Given the description of an element on the screen output the (x, y) to click on. 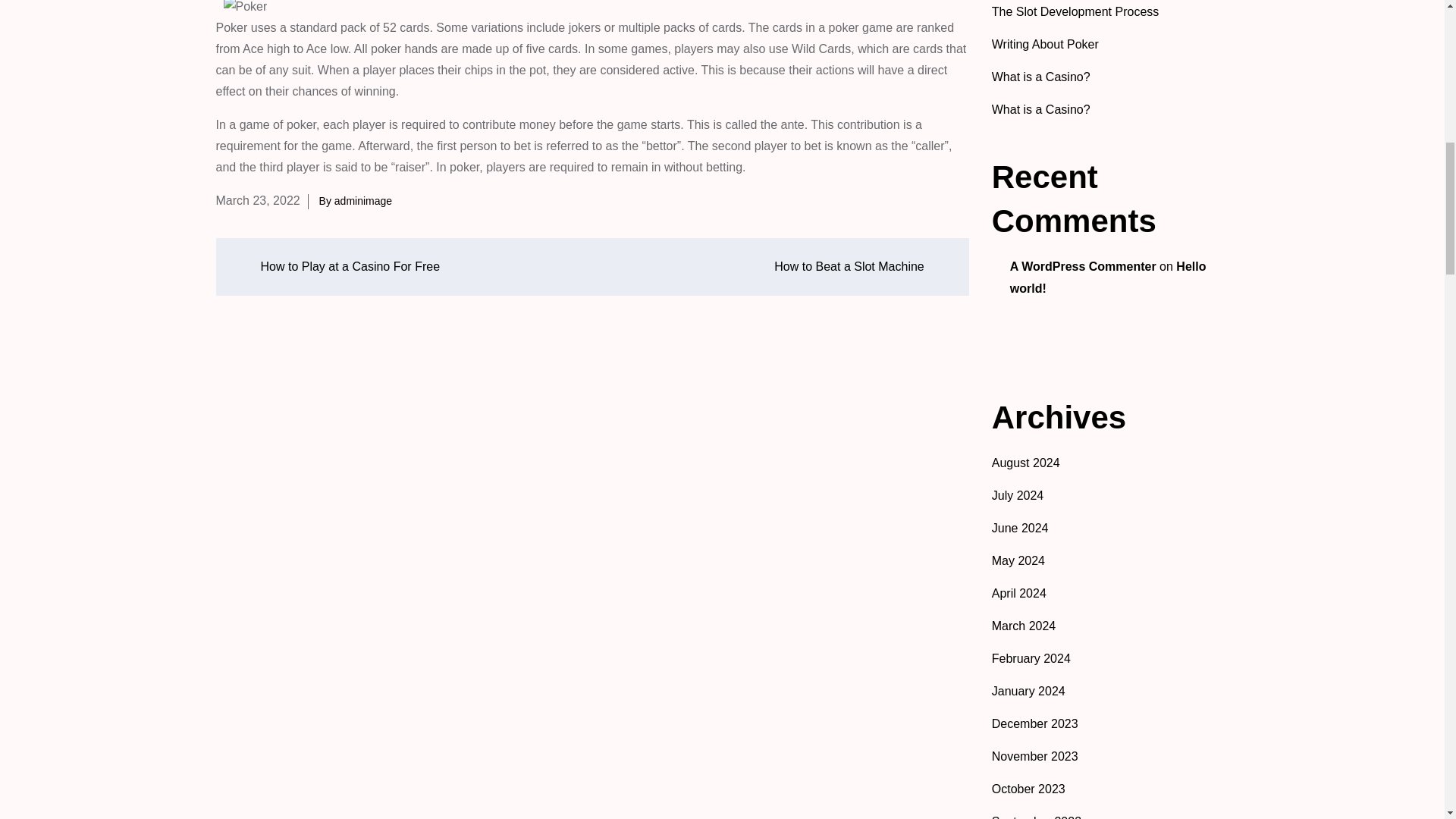
The Slot Development Process (1074, 11)
Hello world! (1108, 277)
What is a Casino? (1040, 76)
May 2024 (1018, 560)
April 2024 (1018, 593)
December 2023 (1034, 723)
January 2024 (1028, 690)
October 2023 (1028, 788)
Writing About Poker (1045, 43)
What is a Casino? (1040, 109)
